Given the description of an element on the screen output the (x, y) to click on. 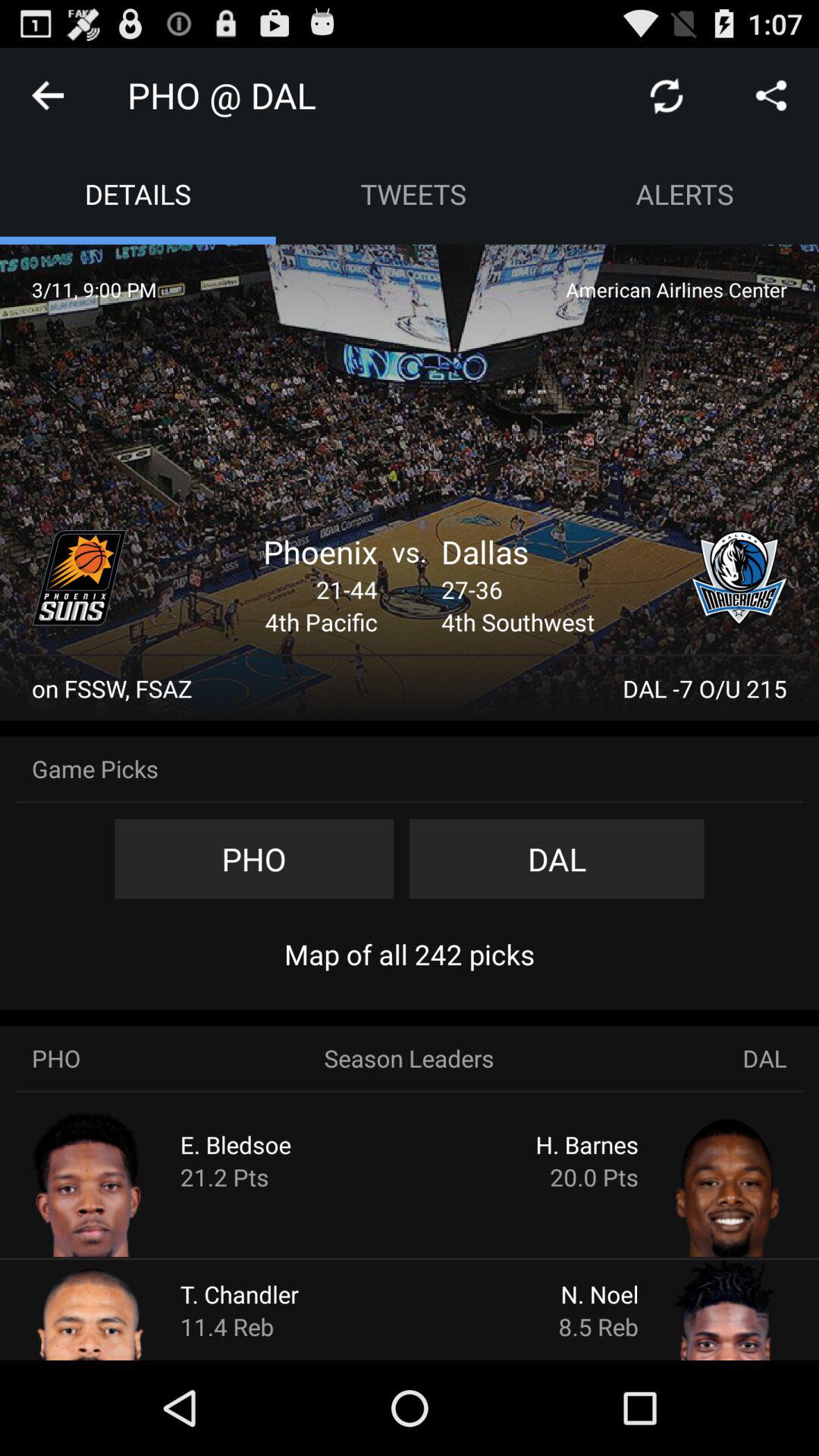
click on player (699, 1183)
